Given the description of an element on the screen output the (x, y) to click on. 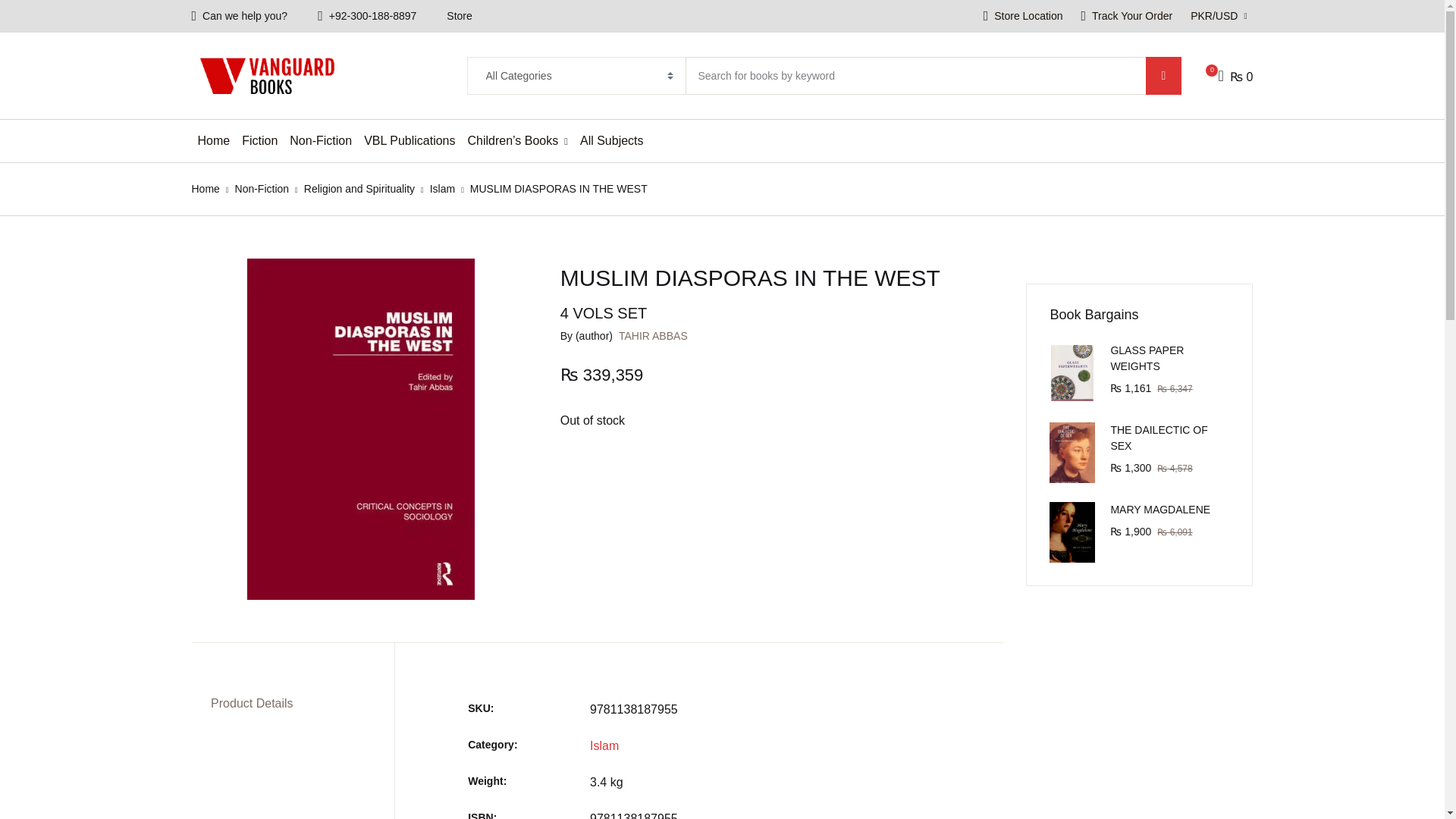
Islam (441, 188)
Can we help you? (239, 16)
Product Details (252, 703)
Store (458, 16)
Track Your Order (1127, 16)
Can we help you? (239, 16)
Non-Fiction (320, 140)
All Subjects (611, 140)
Store Location (1022, 16)
Store (458, 16)
